Given the description of an element on the screen output the (x, y) to click on. 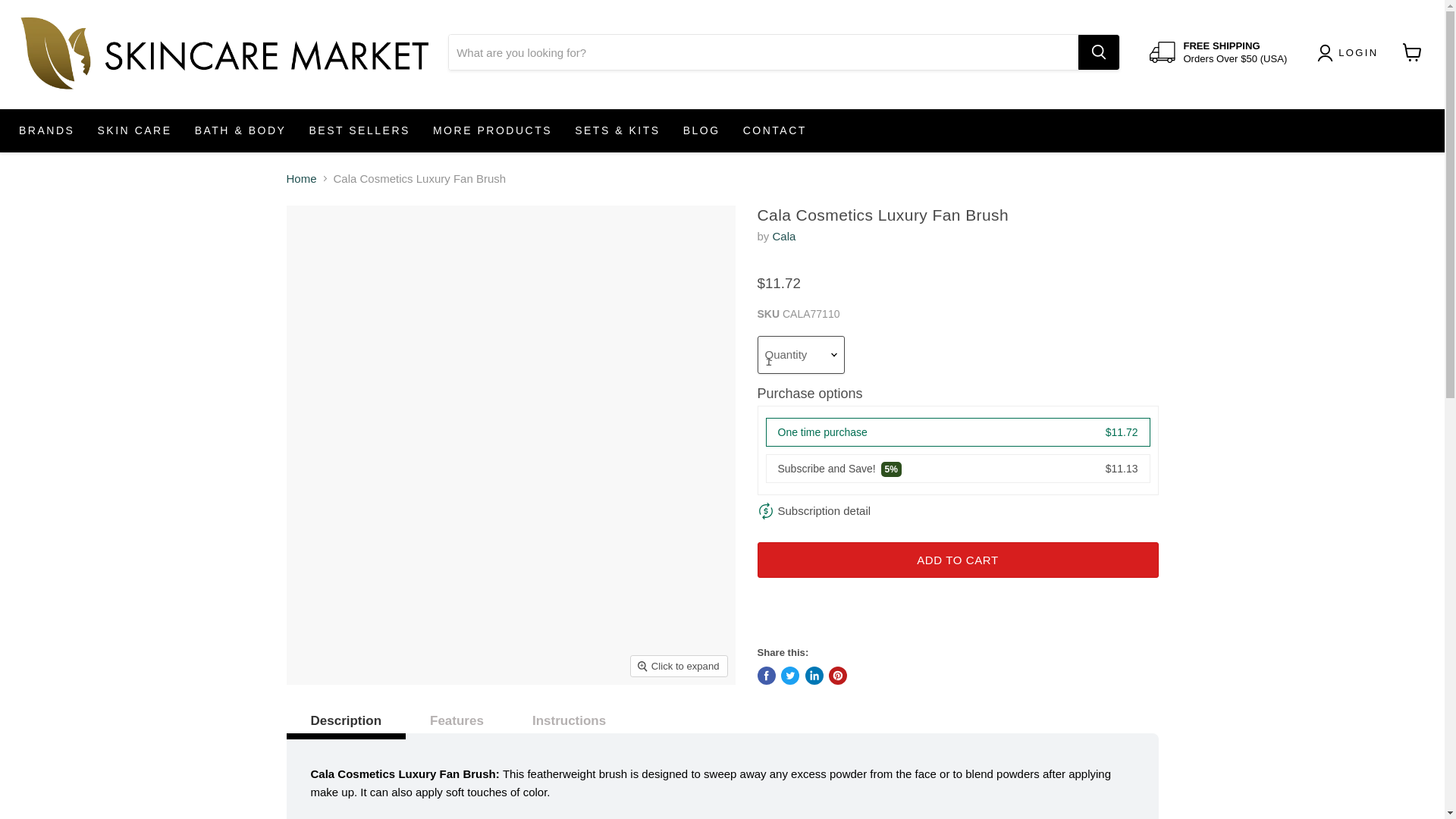
LOGIN (1358, 53)
BRANDS (46, 130)
Cala (784, 236)
View cart (1411, 52)
